Given the description of an element on the screen output the (x, y) to click on. 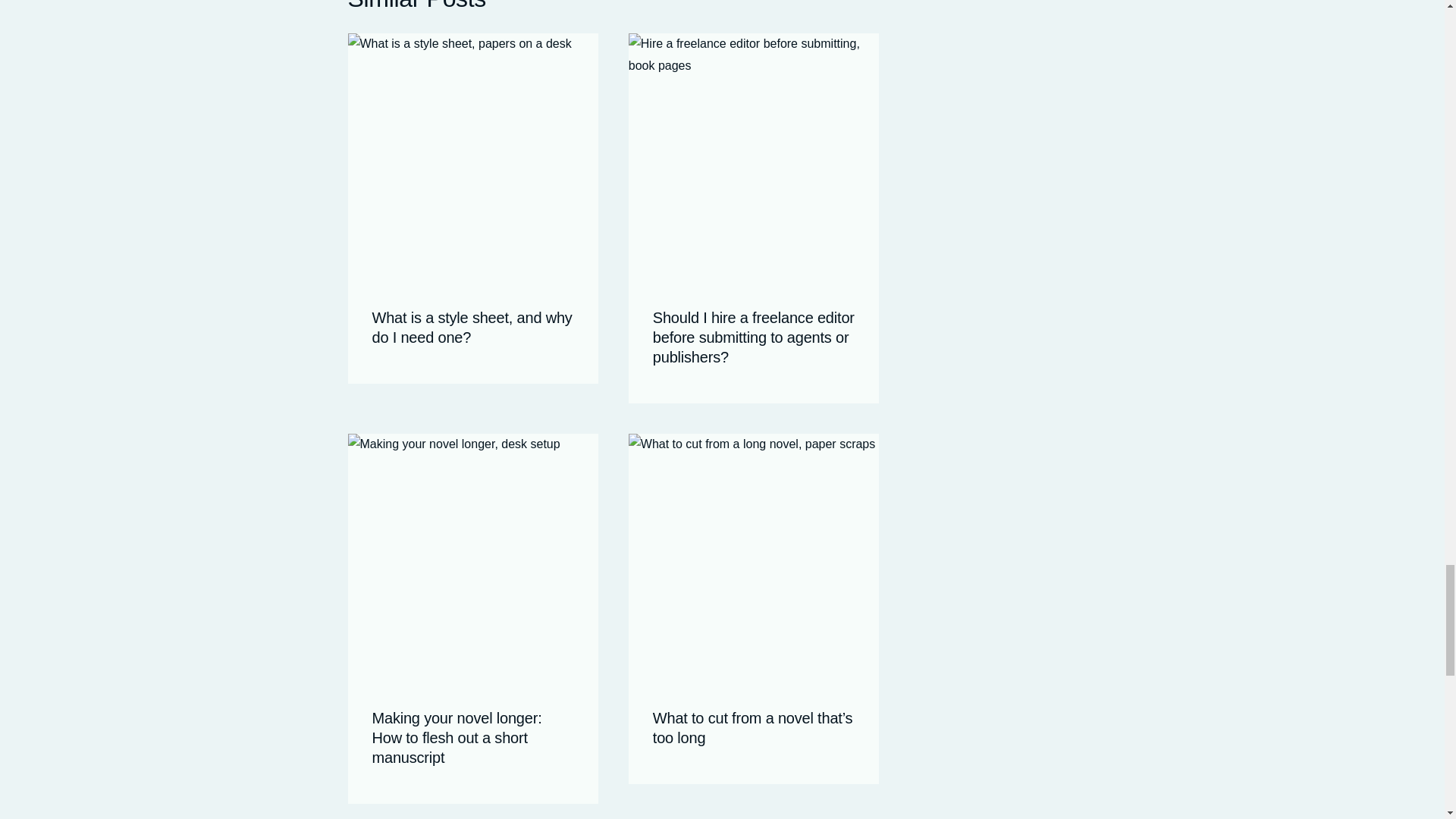
What is a style sheet, and why do I need one? (471, 327)
